Given the description of an element on the screen output the (x, y) to click on. 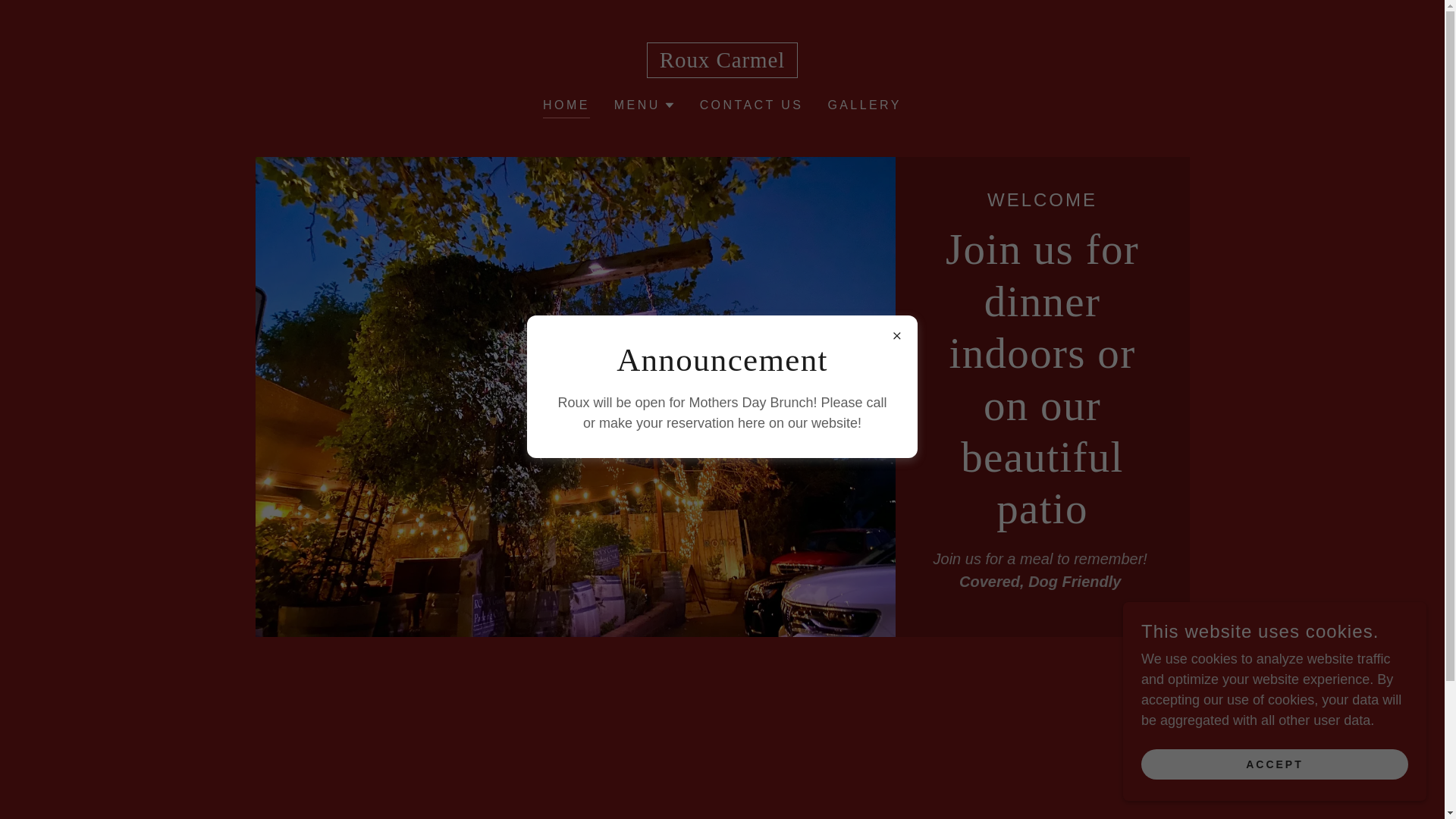
GALLERY (863, 104)
MENU (644, 105)
CONTACT US (751, 104)
Roux Carmel (721, 62)
ACCEPT (1274, 764)
HOME (566, 106)
Roux Carmel (721, 62)
